Given the description of an element on the screen output the (x, y) to click on. 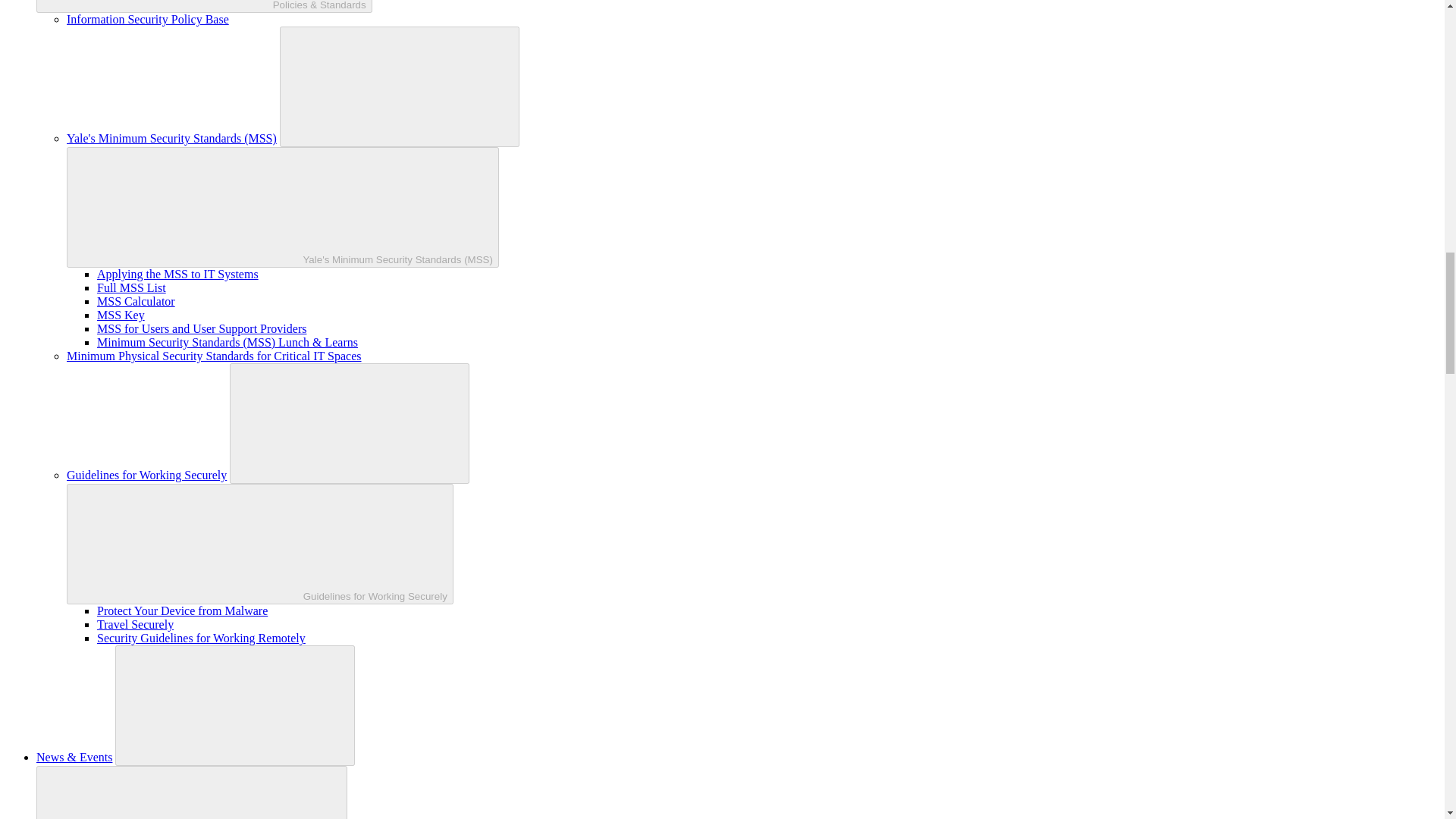
Information Security Policy Base (147, 19)
MSS for Users and User Support Providers (201, 328)
Applying the MSS to IT Systems (178, 273)
MSS Key (120, 314)
Minimum Physical Security Standards for Critical IT Spaces (213, 355)
Guidelines for Working Securely (146, 474)
Full MSS List (131, 287)
MSS Calculator (135, 300)
